Given the description of an element on the screen output the (x, y) to click on. 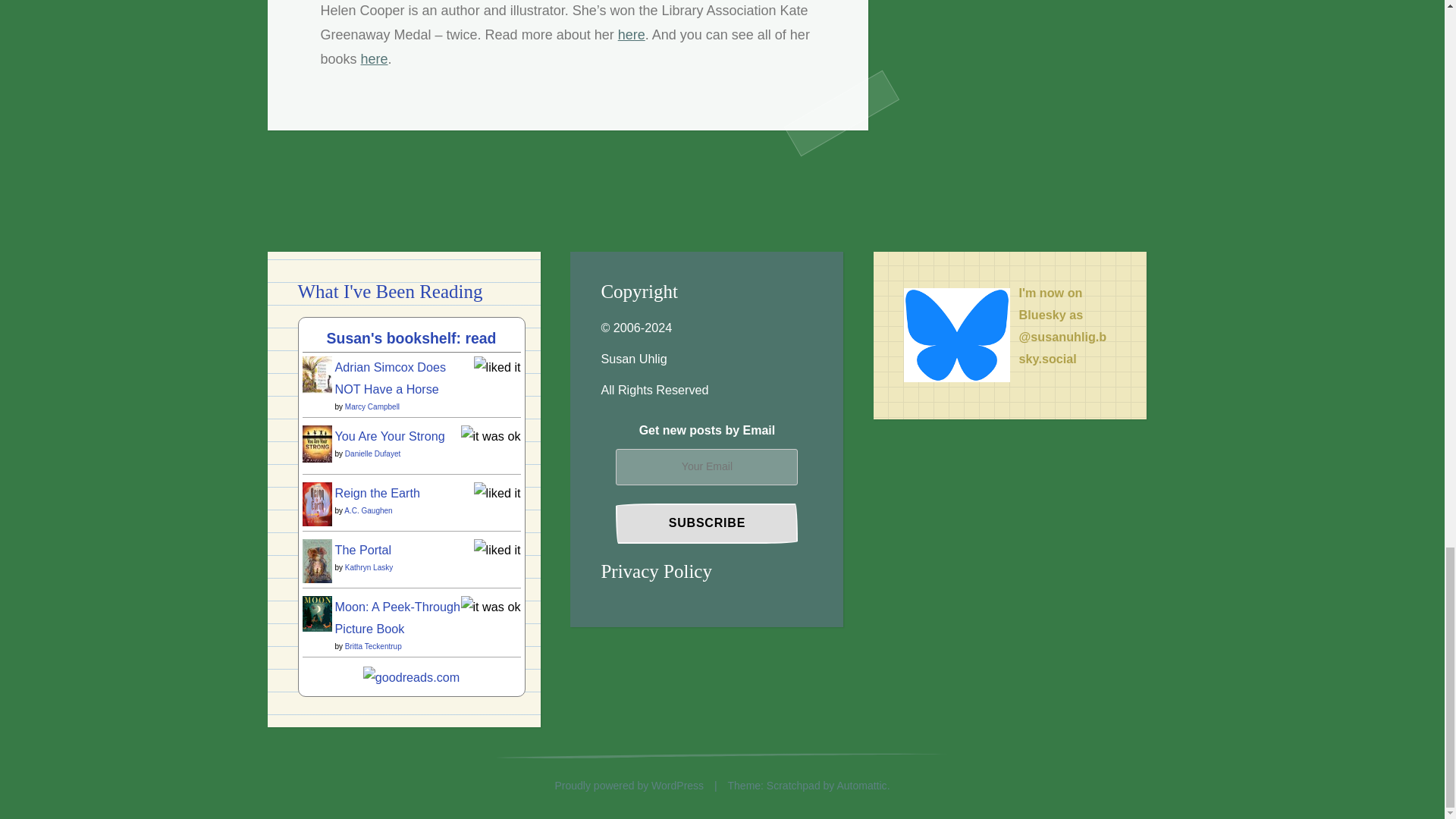
Adrian Simcox Does NOT Have a Horse (316, 388)
Susan's bookshelf: read (411, 338)
liked it (497, 366)
here (631, 34)
You Are Your Strong (316, 458)
here (374, 58)
it was ok (491, 436)
liked it (497, 549)
liked it (497, 492)
Subscribe (706, 523)
